Given the description of an element on the screen output the (x, y) to click on. 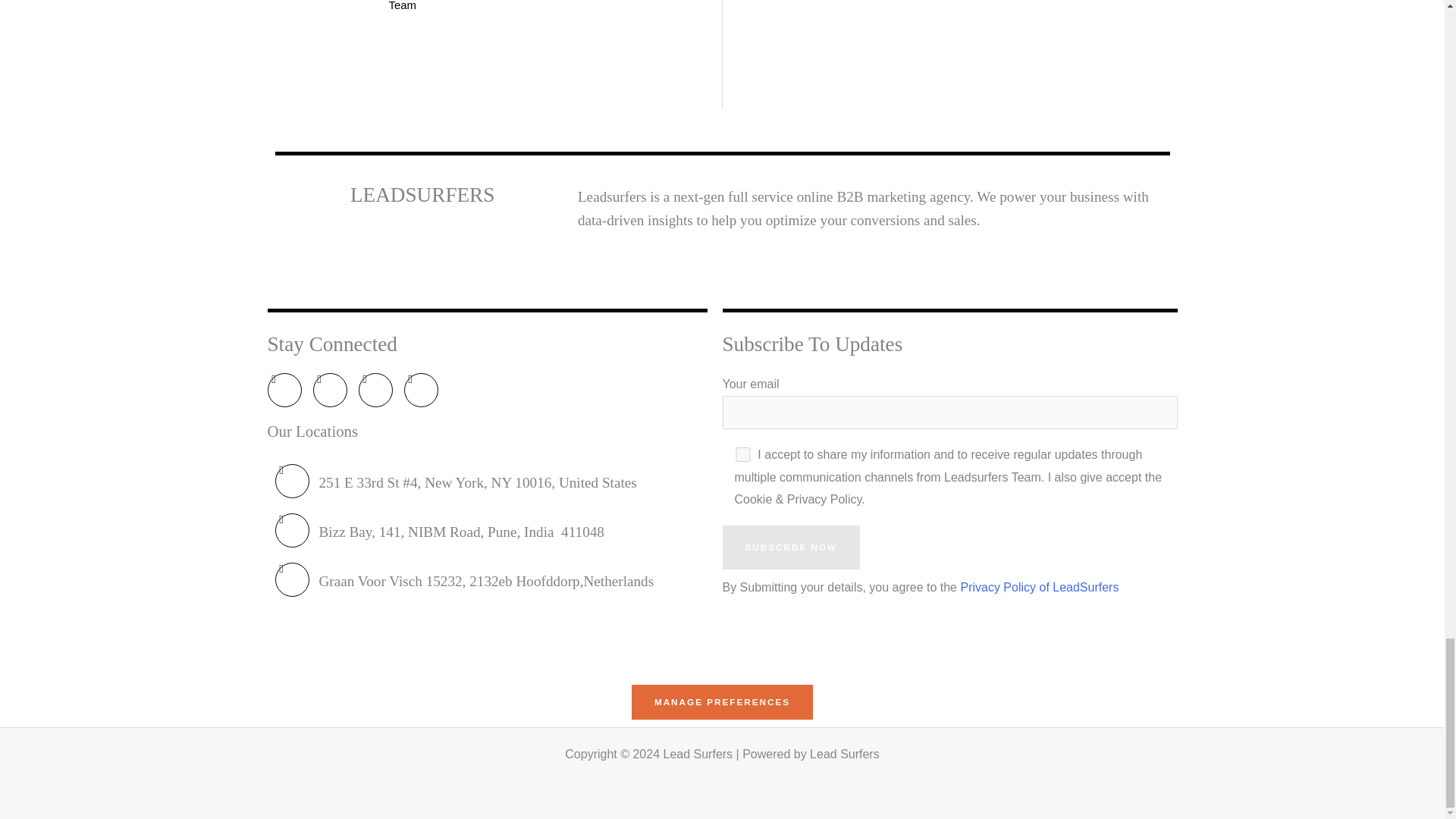
LeadSurfers Team (418, 5)
View all posts by LeadSurfers Team (418, 5)
Subscrbe Now (791, 547)
1 (742, 454)
